Given the description of an element on the screen output the (x, y) to click on. 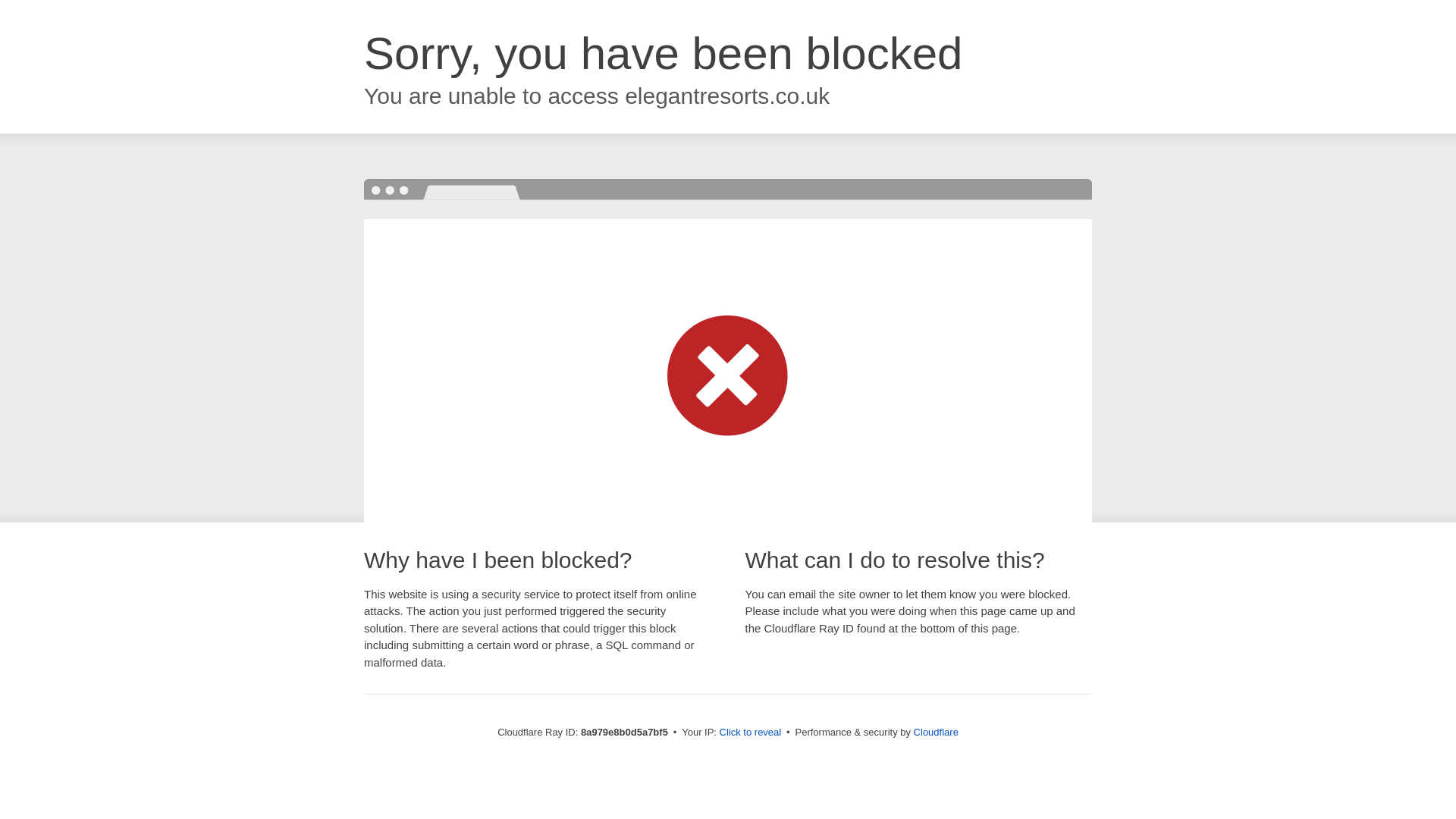
Cloudflare (936, 731)
Click to reveal (750, 732)
